Given the description of an element on the screen output the (x, y) to click on. 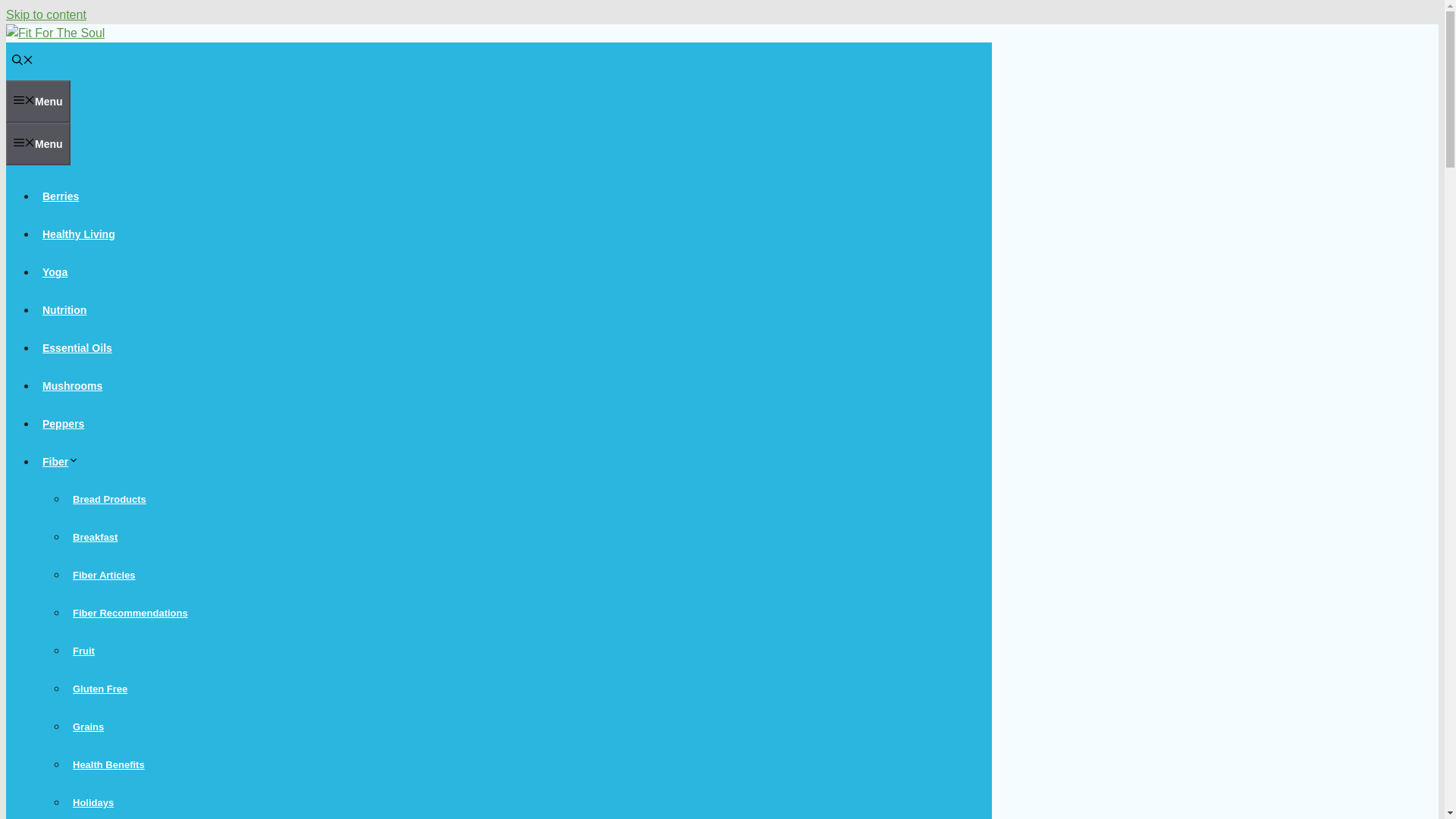
Holidays (92, 802)
Yoga (55, 272)
Essential Oils (76, 347)
Berries (60, 196)
Fiber Articles (103, 574)
Fiber Recommendations (129, 612)
Fiber (63, 461)
Peppers (63, 423)
Menu (37, 143)
Skip to content (45, 14)
